Given the description of an element on the screen output the (x, y) to click on. 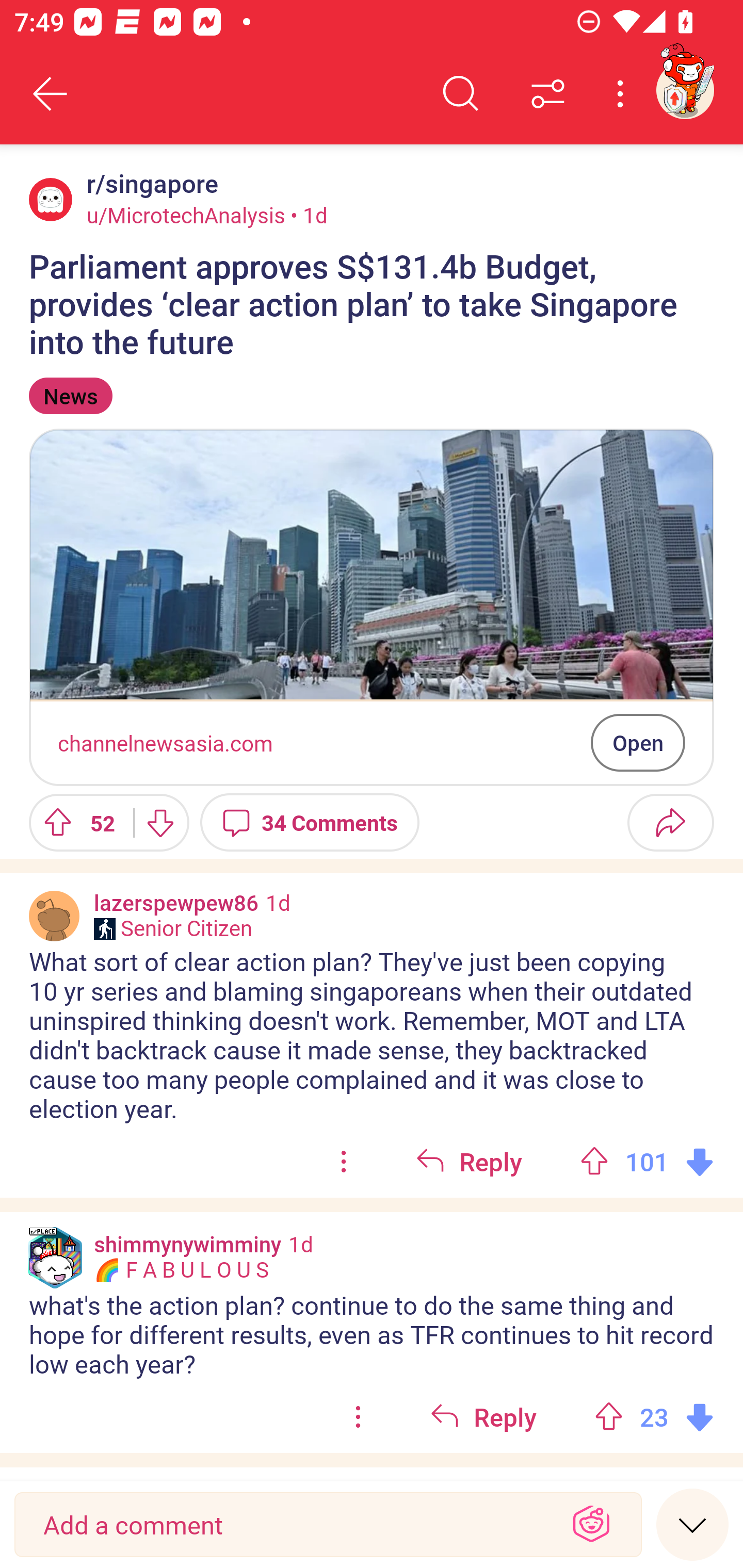
Back (50, 93)
TestAppium002 account (685, 90)
Search comments (460, 93)
Sort comments (547, 93)
More options (623, 93)
r/singapore (148, 183)
Avatar (50, 199)
News (70, 395)
Preview Image channelnewsasia.com Open (371, 606)
Open (637, 742)
Upvote 52 (73, 822)
Downvote (158, 822)
34 Comments (309, 822)
Share (670, 822)
Avatar (53, 915)
￼ Senior Citizen (172, 927)
options (343, 1161)
Reply (469, 1161)
Upvote 101 101 votes Downvote (647, 1161)
🌈 F A B U L O U S (180, 1269)
options (358, 1417)
Reply (483, 1417)
Upvote 23 23 votes Downvote (654, 1417)
Speed read (692, 1524)
Add a comment (291, 1524)
Show Expressions (590, 1524)
